Given the description of an element on the screen output the (x, y) to click on. 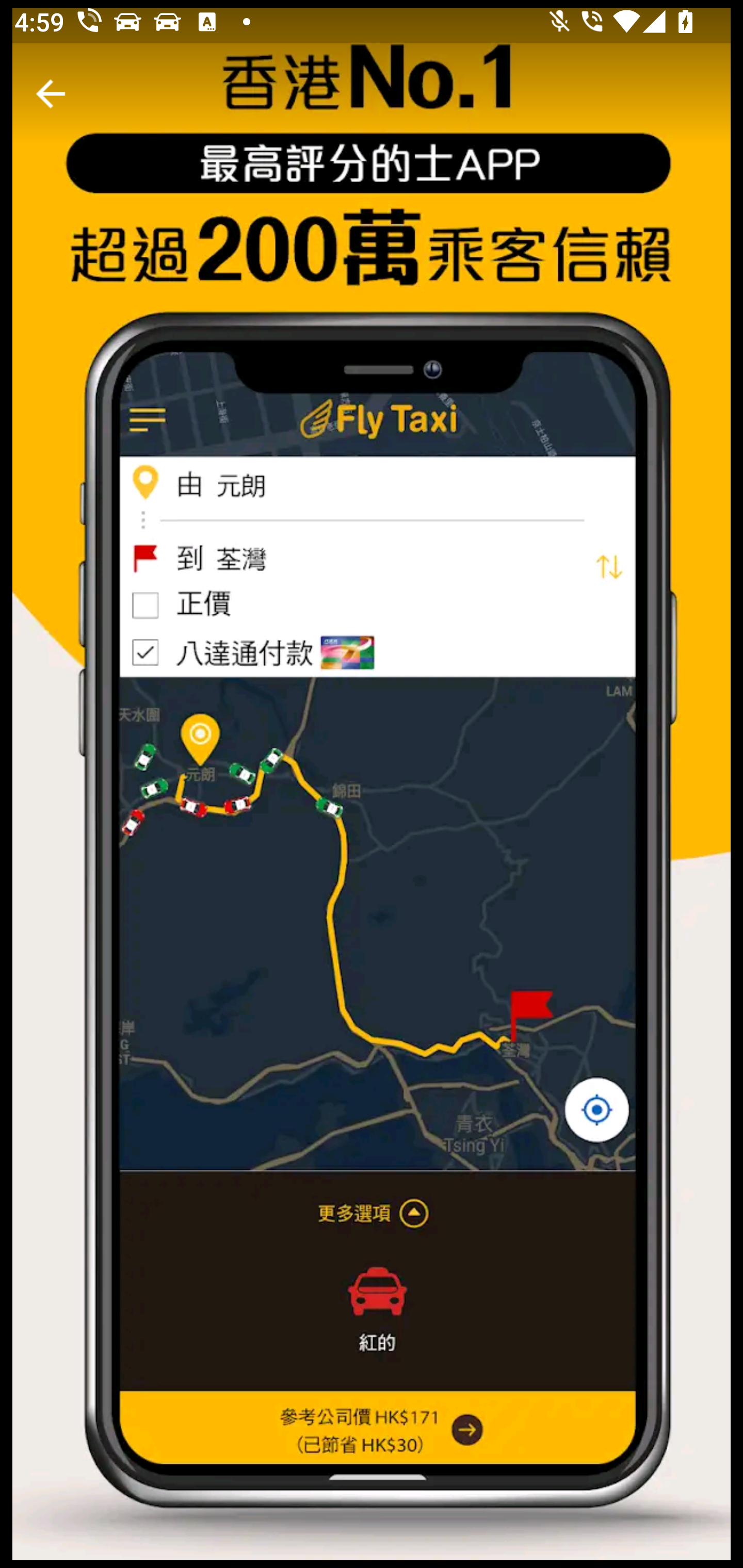
Back (50, 93)
